Given the description of an element on the screen output the (x, y) to click on. 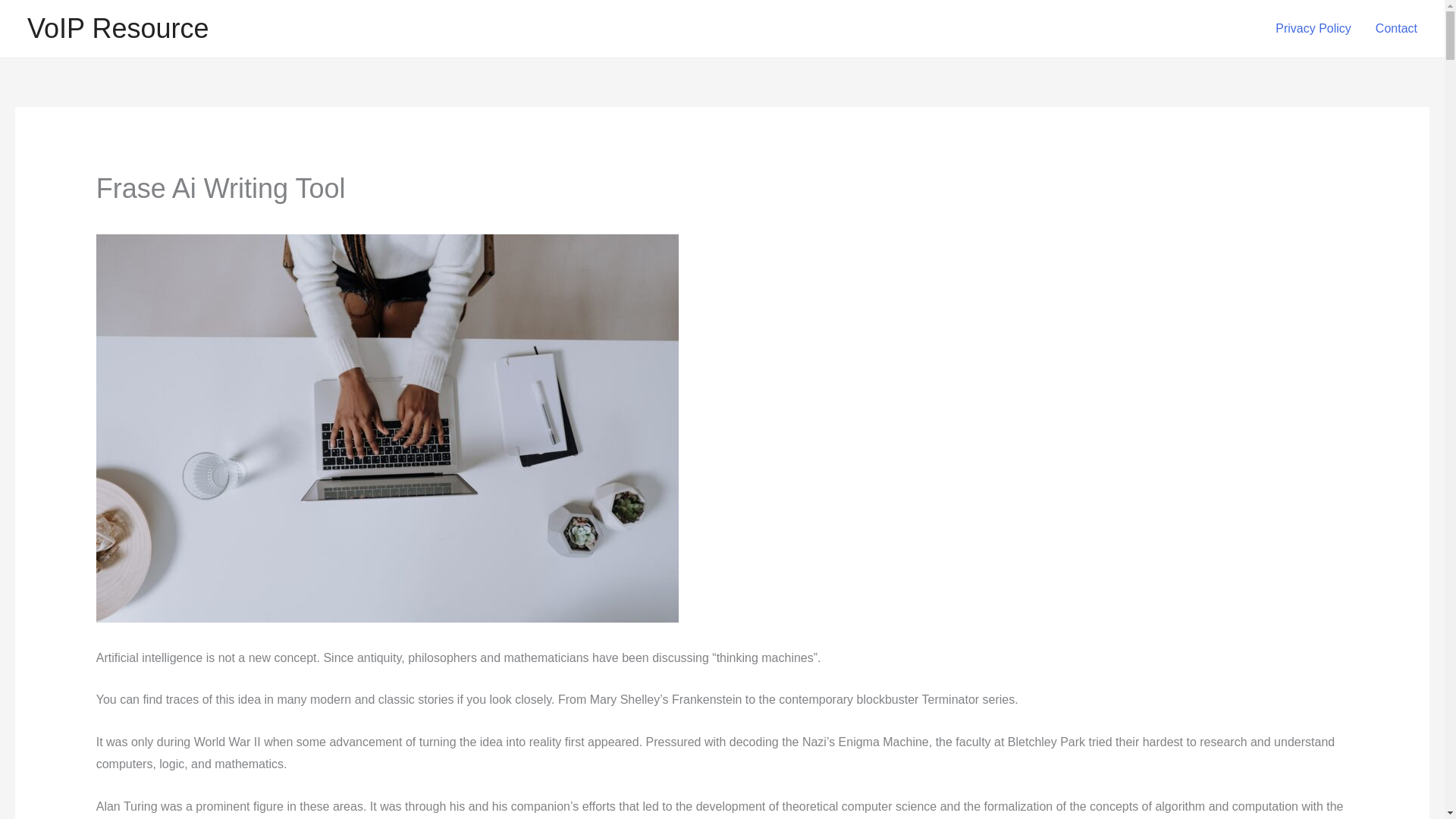
VoIP Resource (117, 28)
Contact (1395, 28)
Privacy Policy (1312, 28)
